Given the description of an element on the screen output the (x, y) to click on. 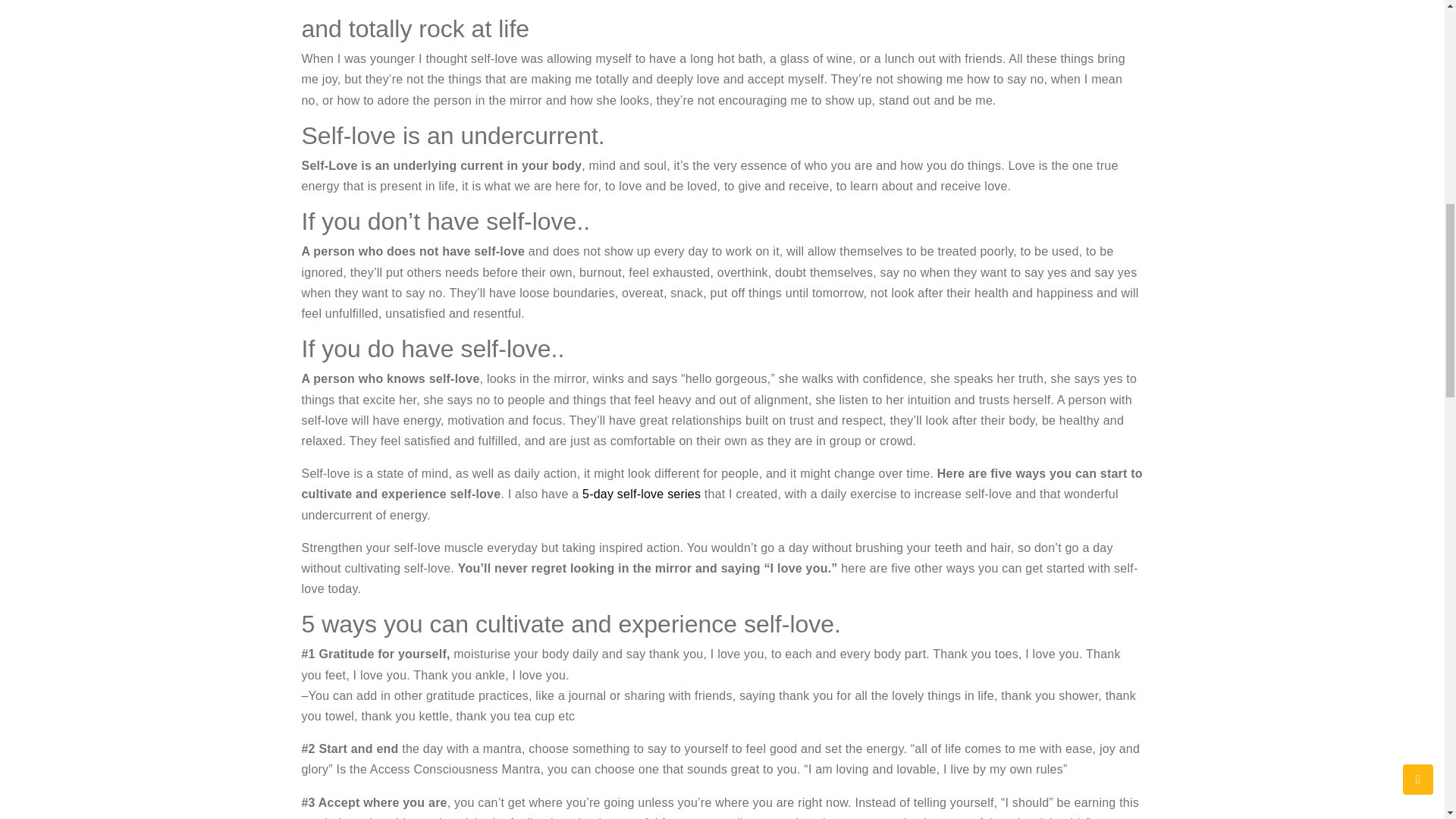
5-day self-love series (641, 493)
